Given the description of an element on the screen output the (x, y) to click on. 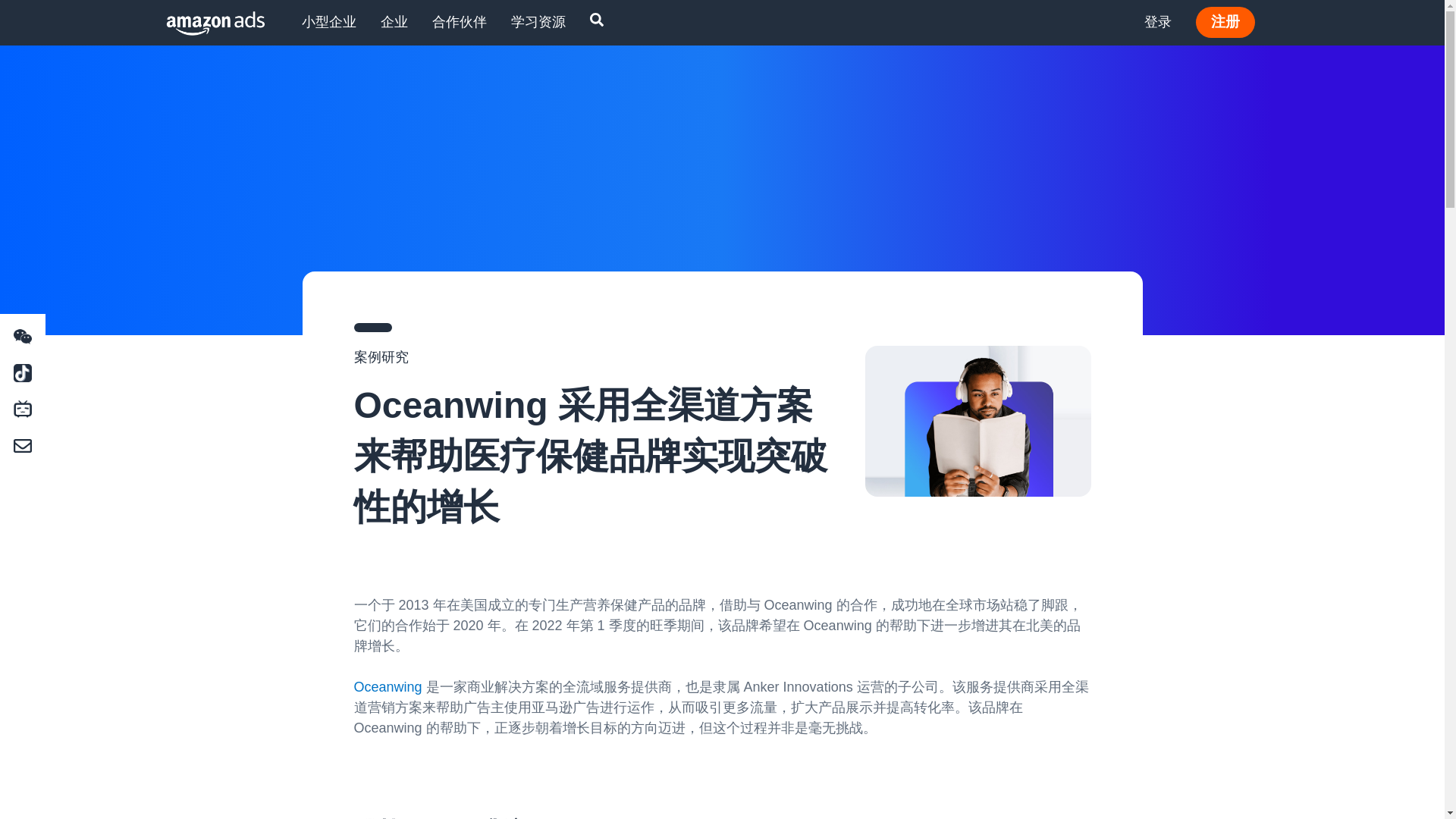
Amazon Ads (202, 22)
